Given the description of an element on the screen output the (x, y) to click on. 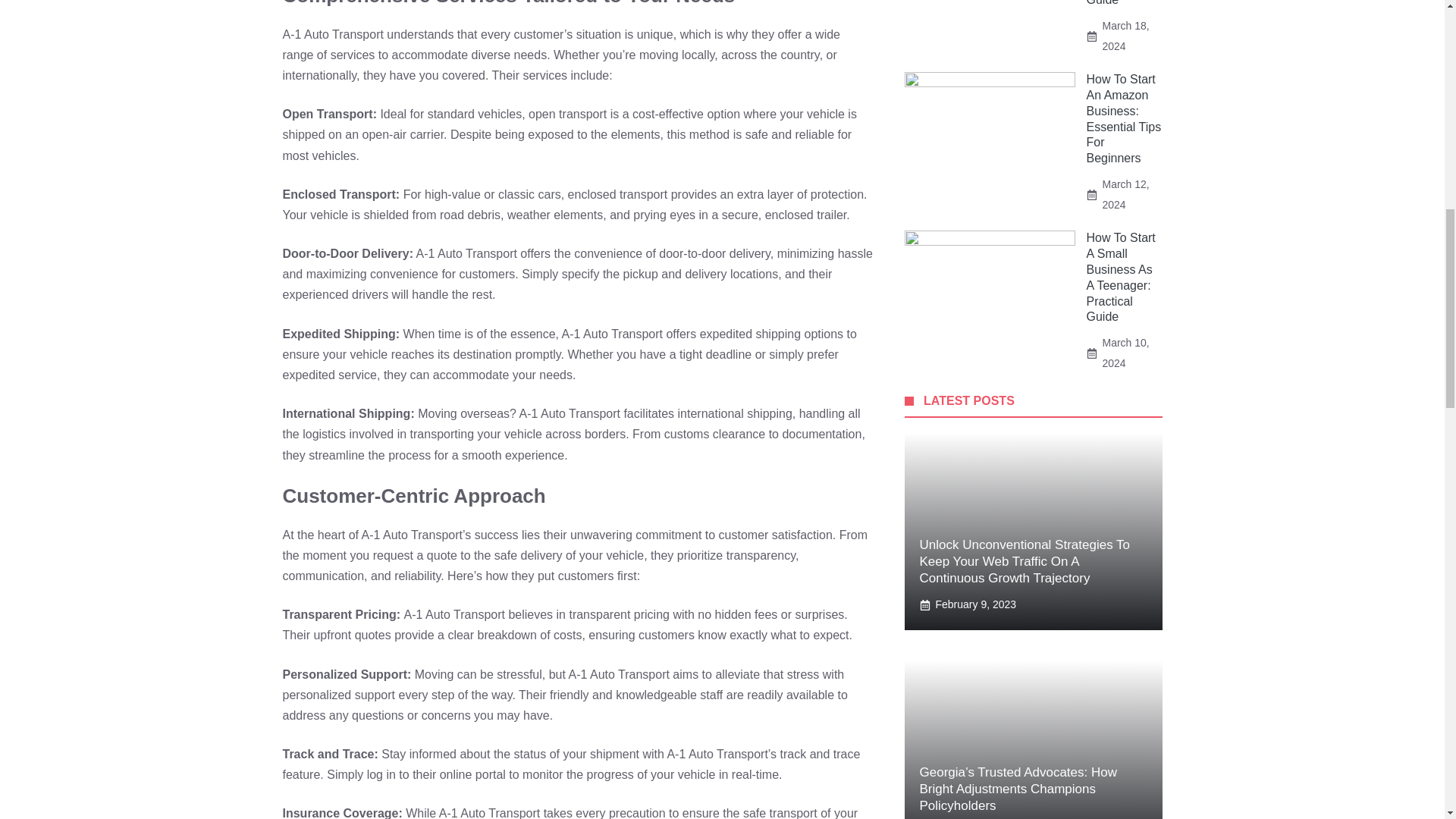
How to Start a Dance Studio: Your Step-by-Step Success Guide (1121, 2)
Scroll back to top (1406, 720)
